Given the description of an element on the screen output the (x, y) to click on. 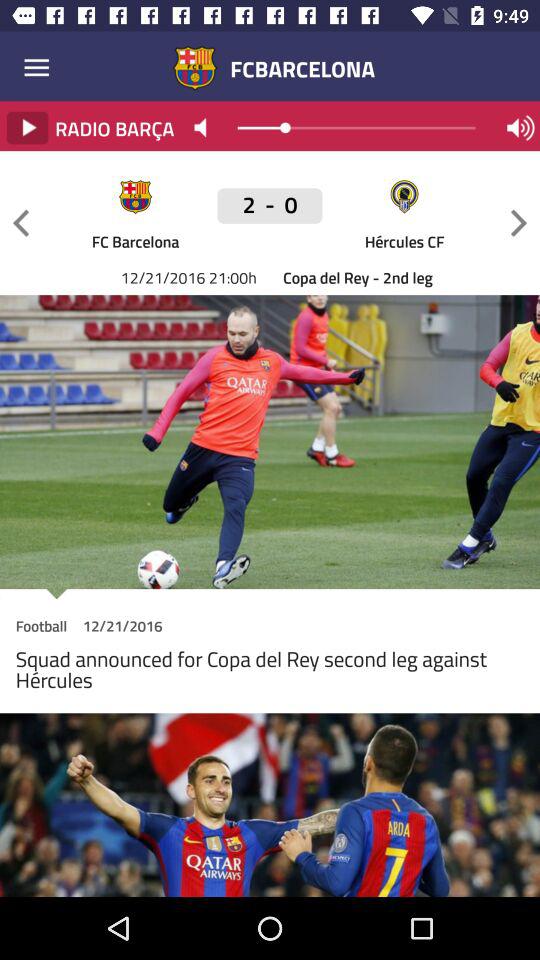
turn off icon above the fc barcelona item (270, 205)
